Given the description of an element on the screen output the (x, y) to click on. 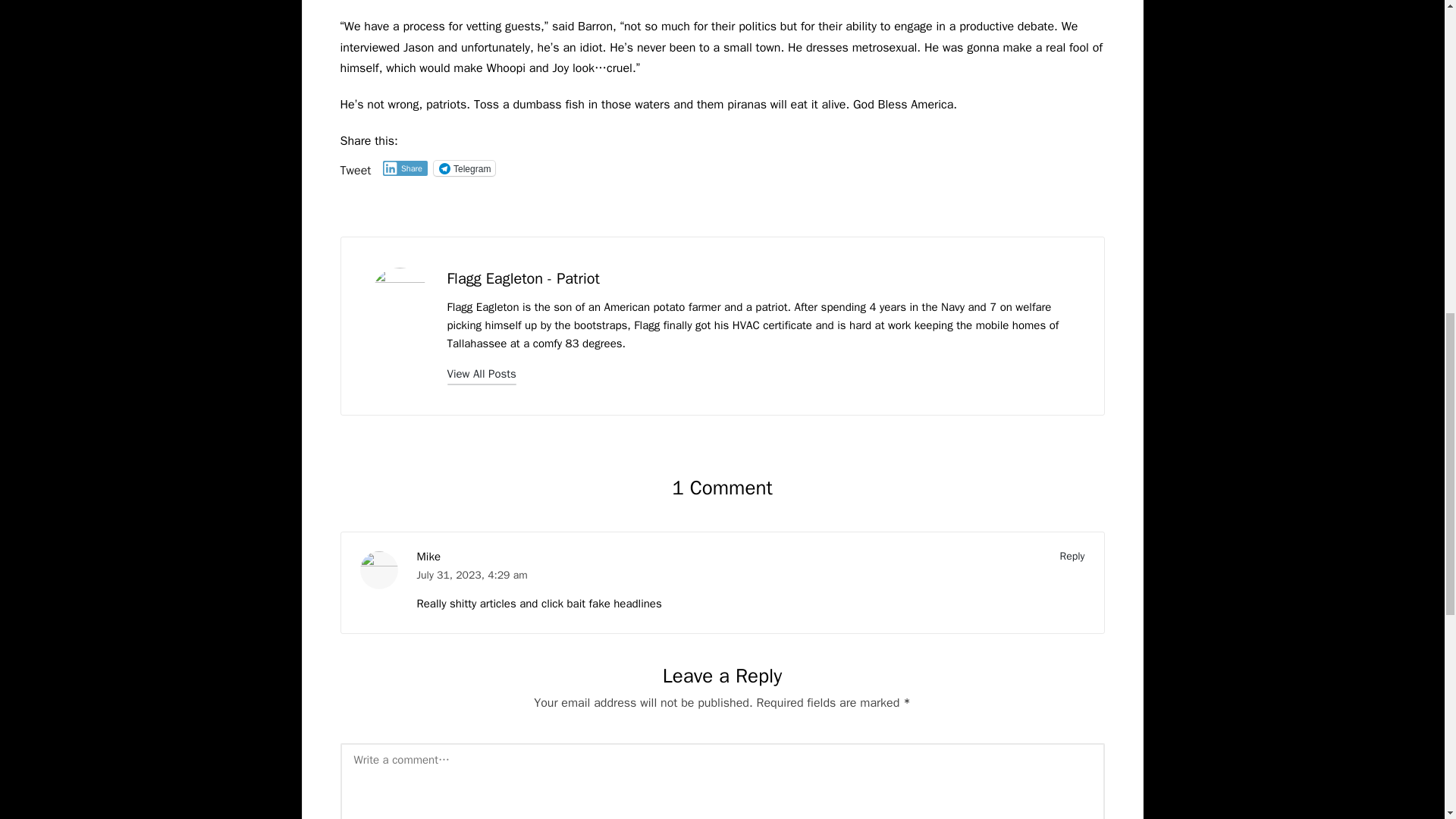
Telegram (464, 168)
4:29 am (507, 574)
Tweet (355, 167)
Share (405, 168)
View All Posts (481, 373)
Click to share on Telegram (464, 168)
Flagg Eagleton - Patriot (522, 278)
Reply (1071, 555)
